Given the description of an element on the screen output the (x, y) to click on. 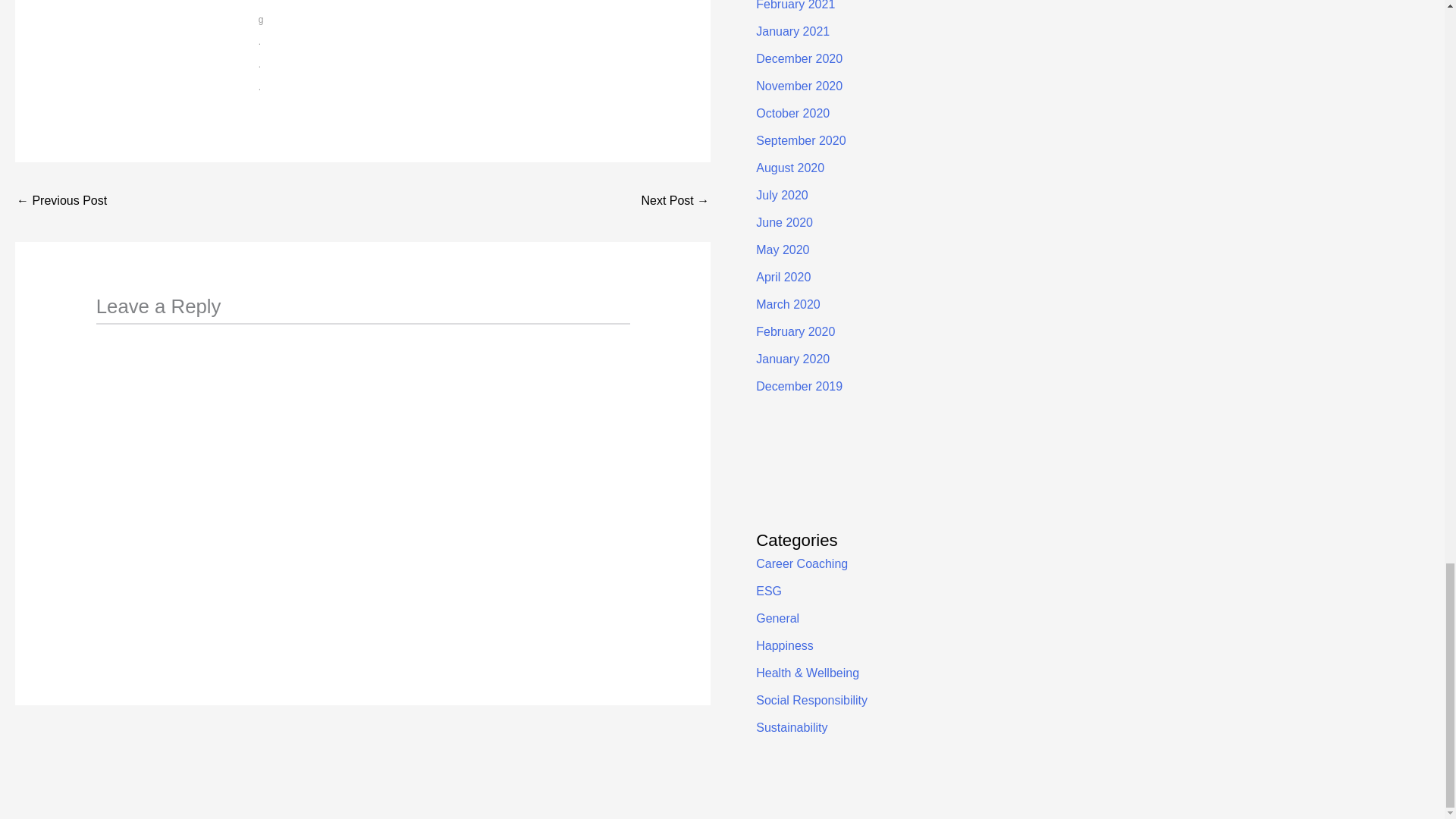
Shift Paradigms and Eliminate Stress (61, 202)
How Values Differ from Ethics and Morals (674, 202)
